Given the description of an element on the screen output the (x, y) to click on. 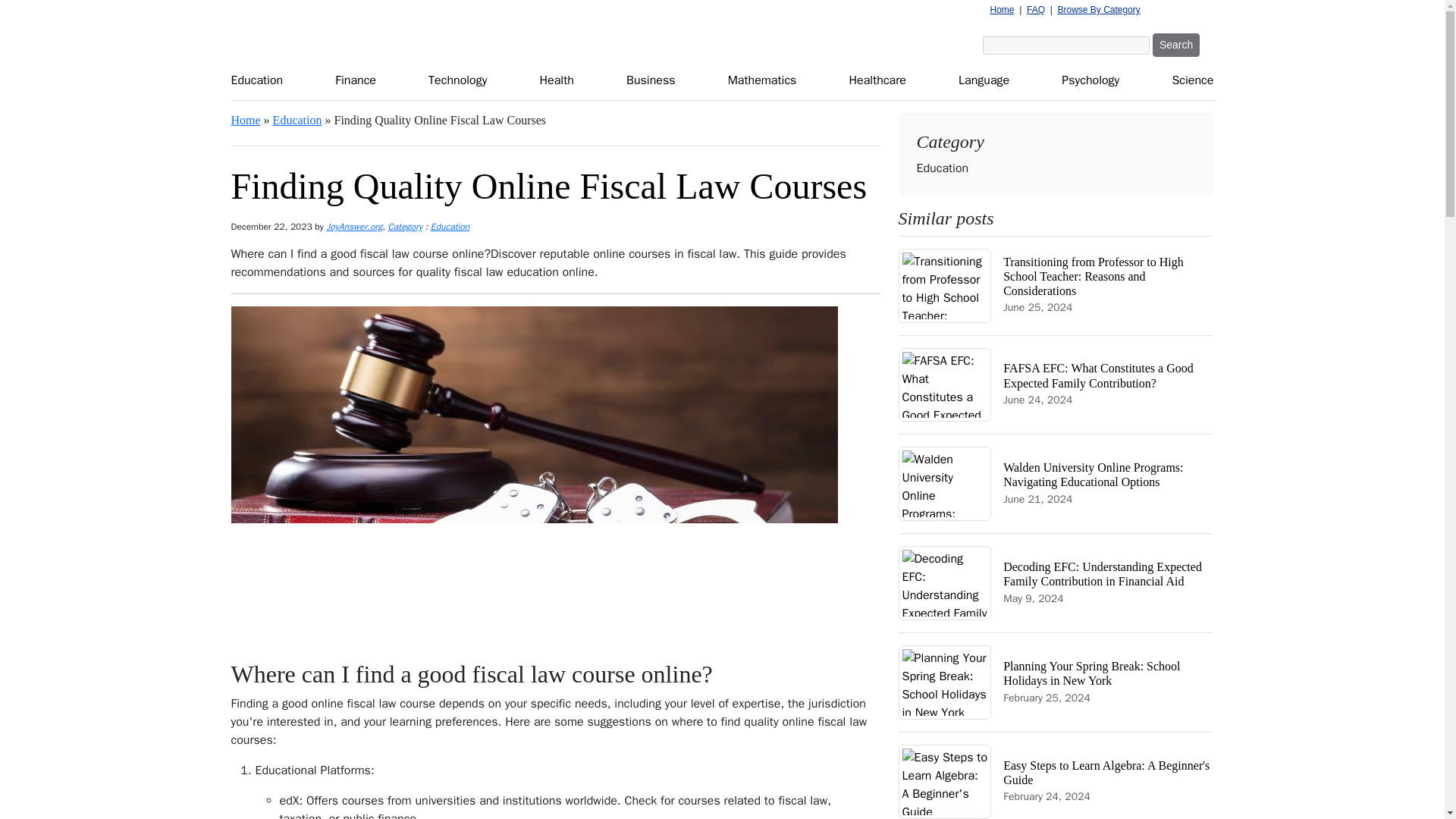
Science (1192, 81)
JoyAnswer.org (353, 226)
FAQ (1035, 9)
Education (297, 119)
Education (450, 226)
Browse By Category (1098, 9)
